Given the description of an element on the screen output the (x, y) to click on. 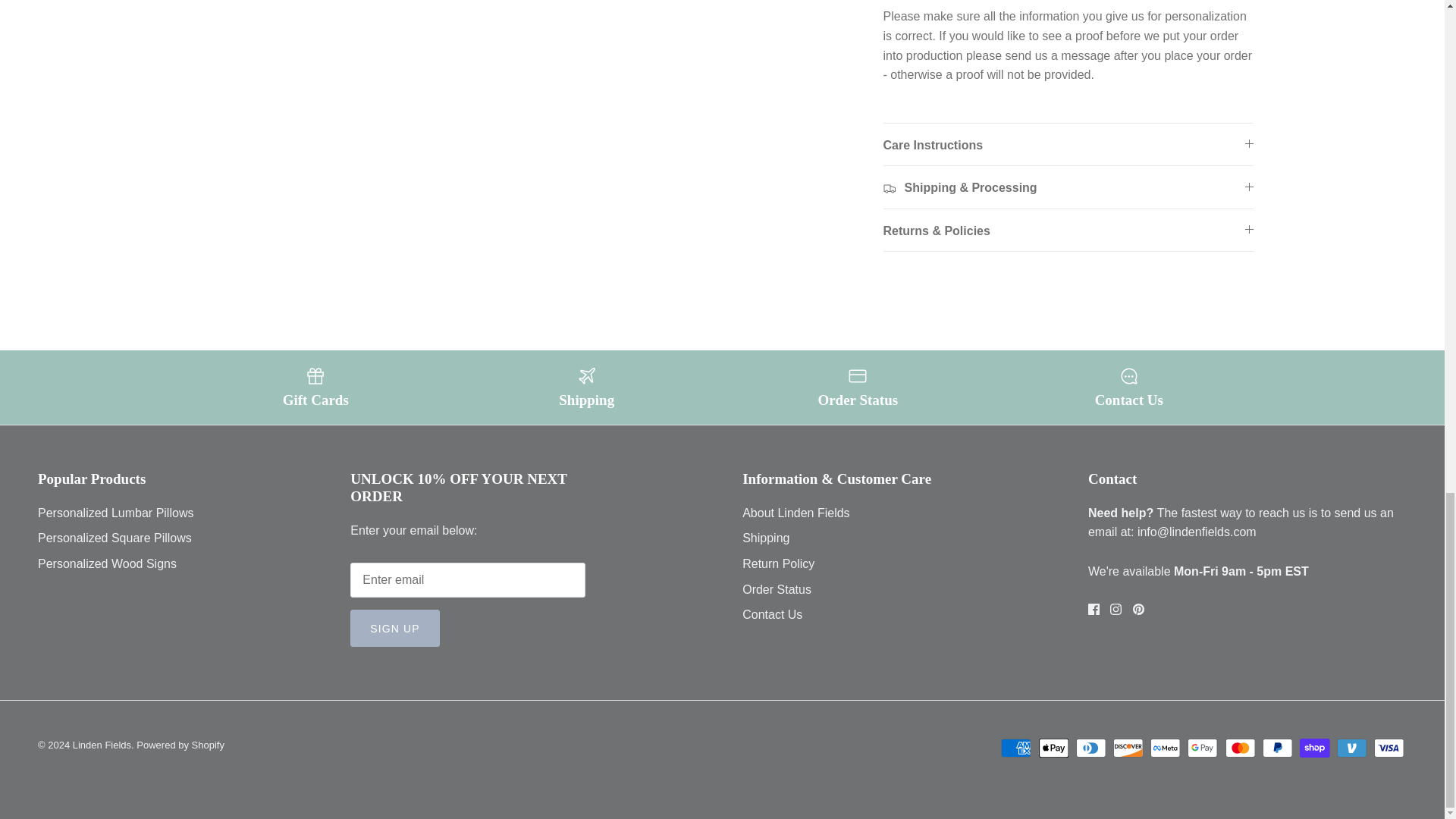
American Express (1015, 747)
Pinterest (1138, 609)
Facebook (1093, 609)
Instagram (1115, 609)
